Given the description of an element on the screen output the (x, y) to click on. 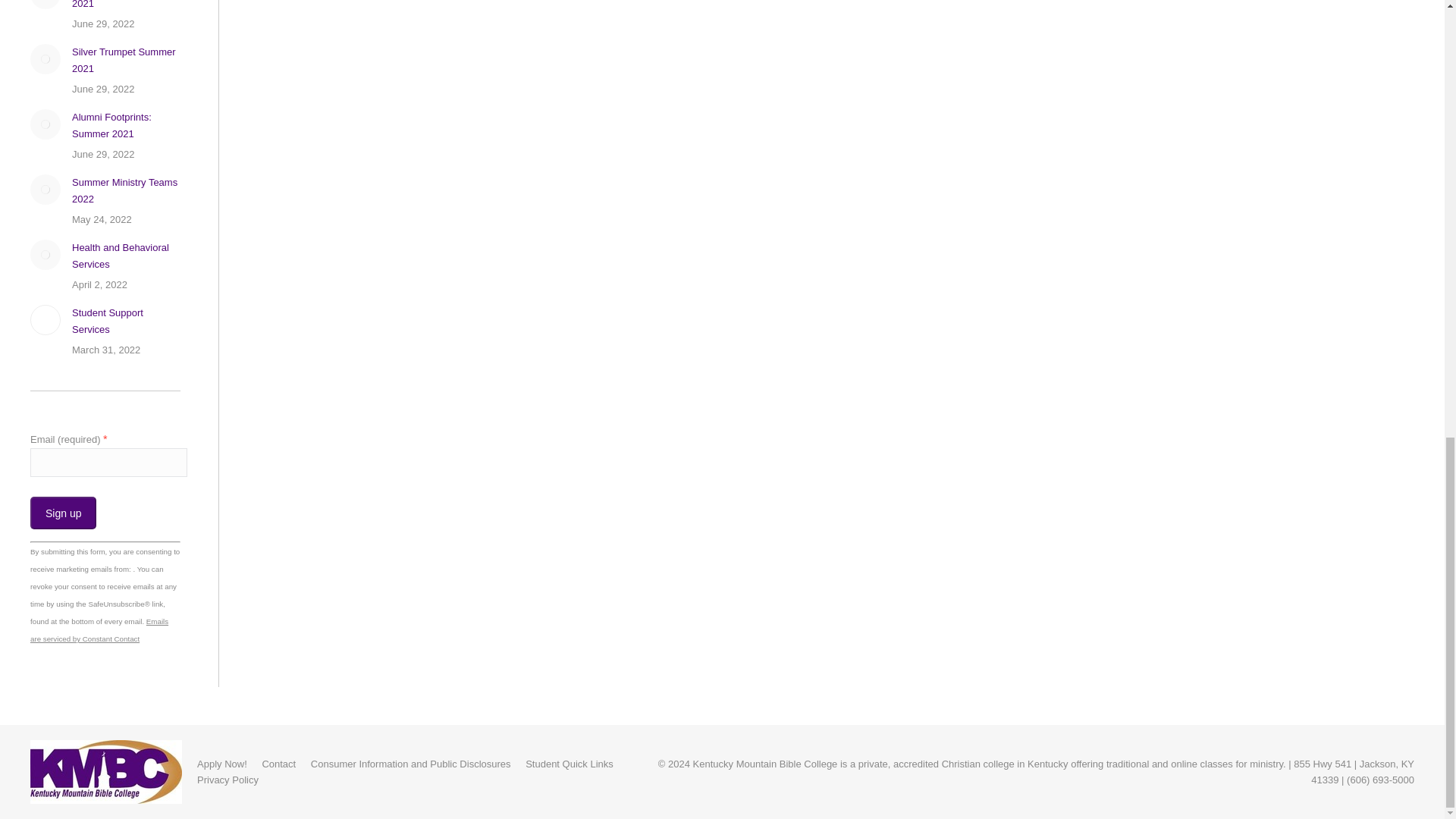
Sign up (63, 512)
required (105, 439)
